Given the description of an element on the screen output the (x, y) to click on. 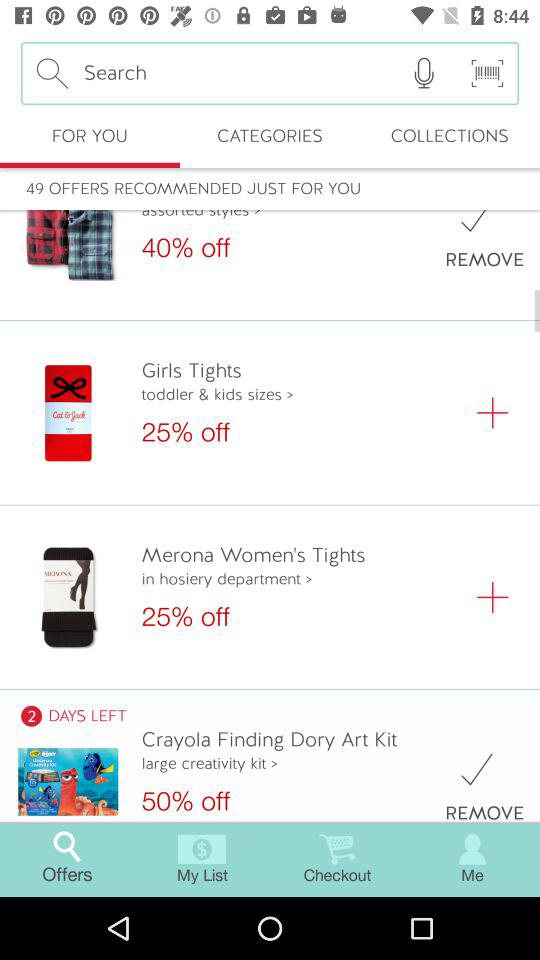
turn off icon to the right of the search item (424, 73)
